Given the description of an element on the screen output the (x, y) to click on. 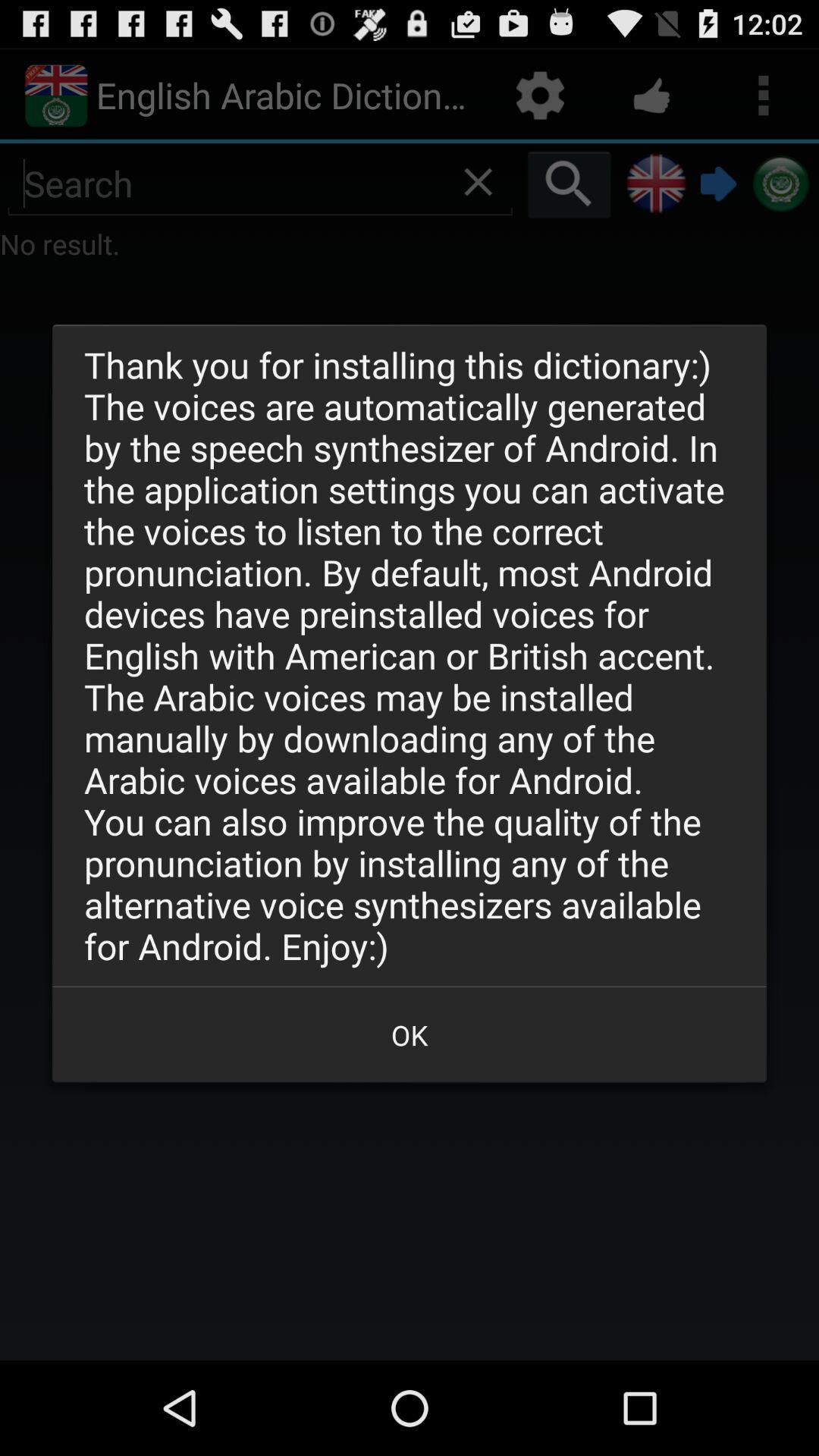
choose the button at the bottom (409, 1034)
